Given the description of an element on the screen output the (x, y) to click on. 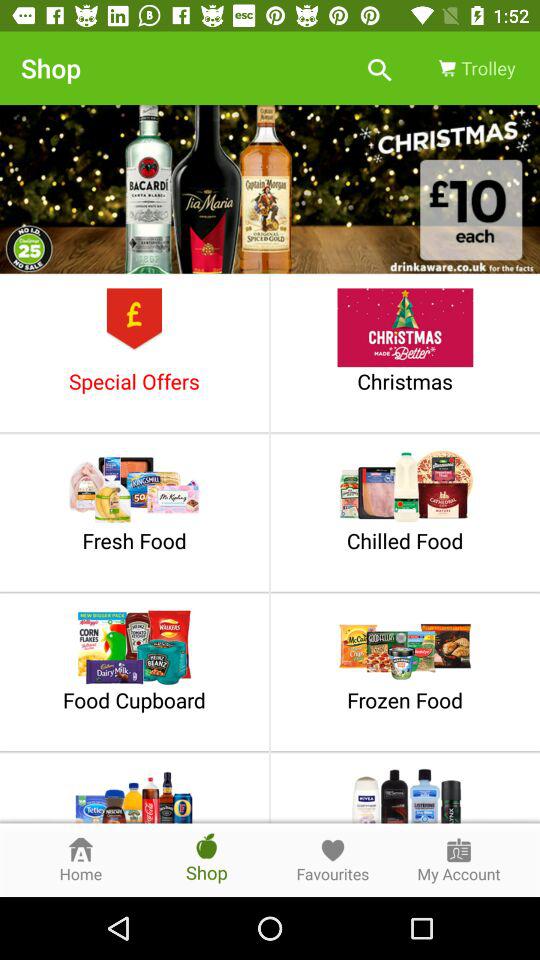
press icon next to shop item (379, 67)
